Given the description of an element on the screen output the (x, y) to click on. 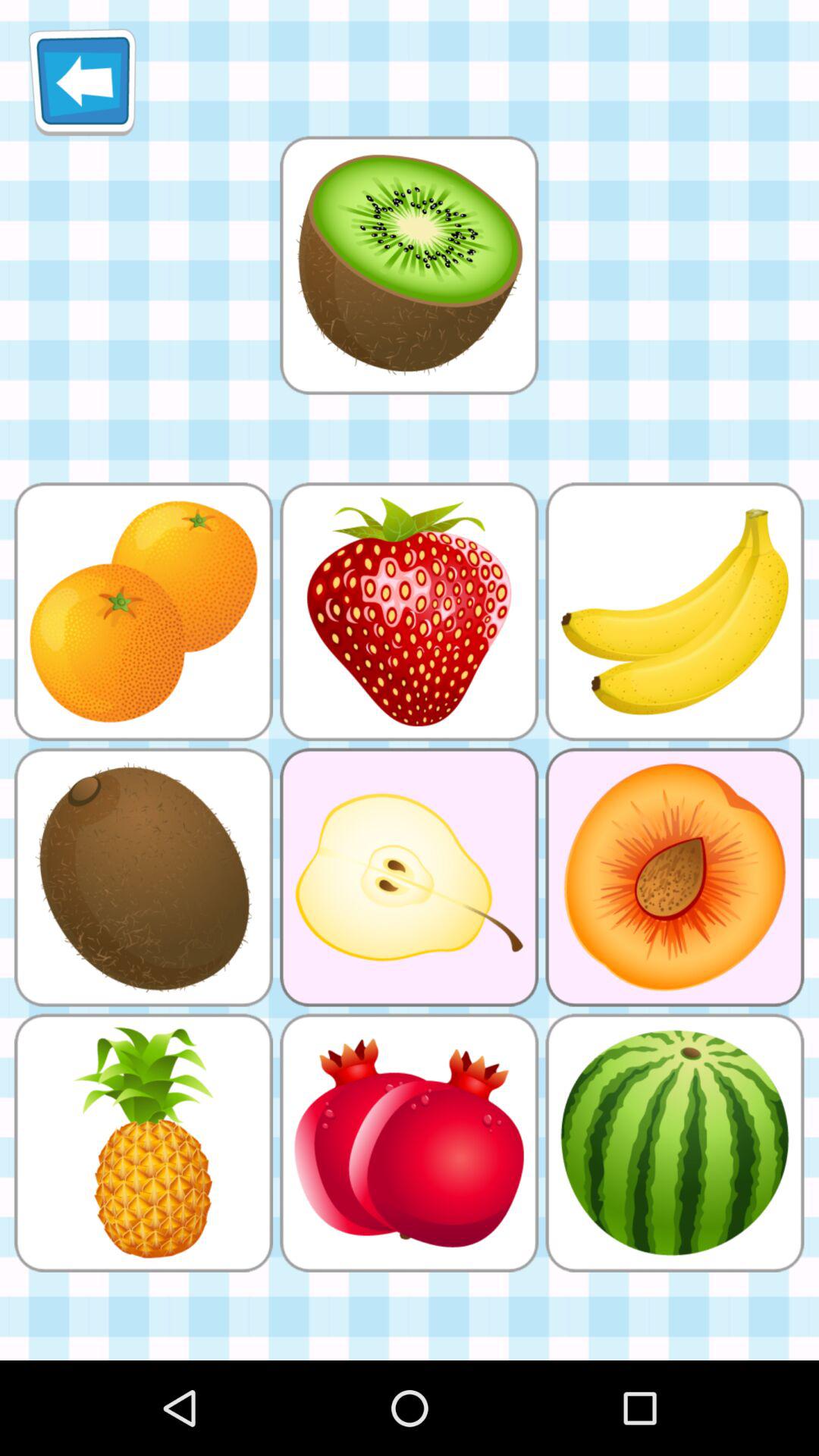
select kiwi (409, 265)
